Given the description of an element on the screen output the (x, y) to click on. 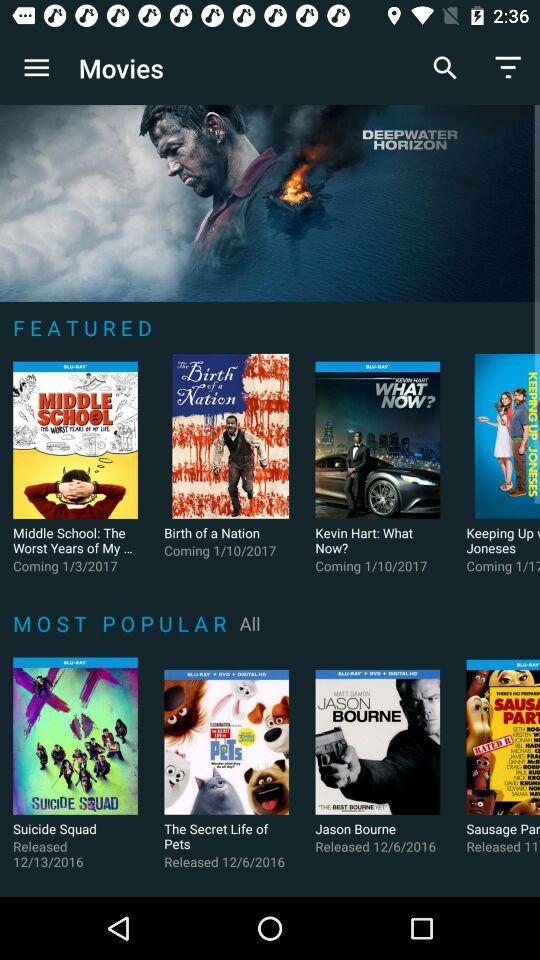
turn on the item next to the m o s icon (249, 623)
